Given the description of an element on the screen output the (x, y) to click on. 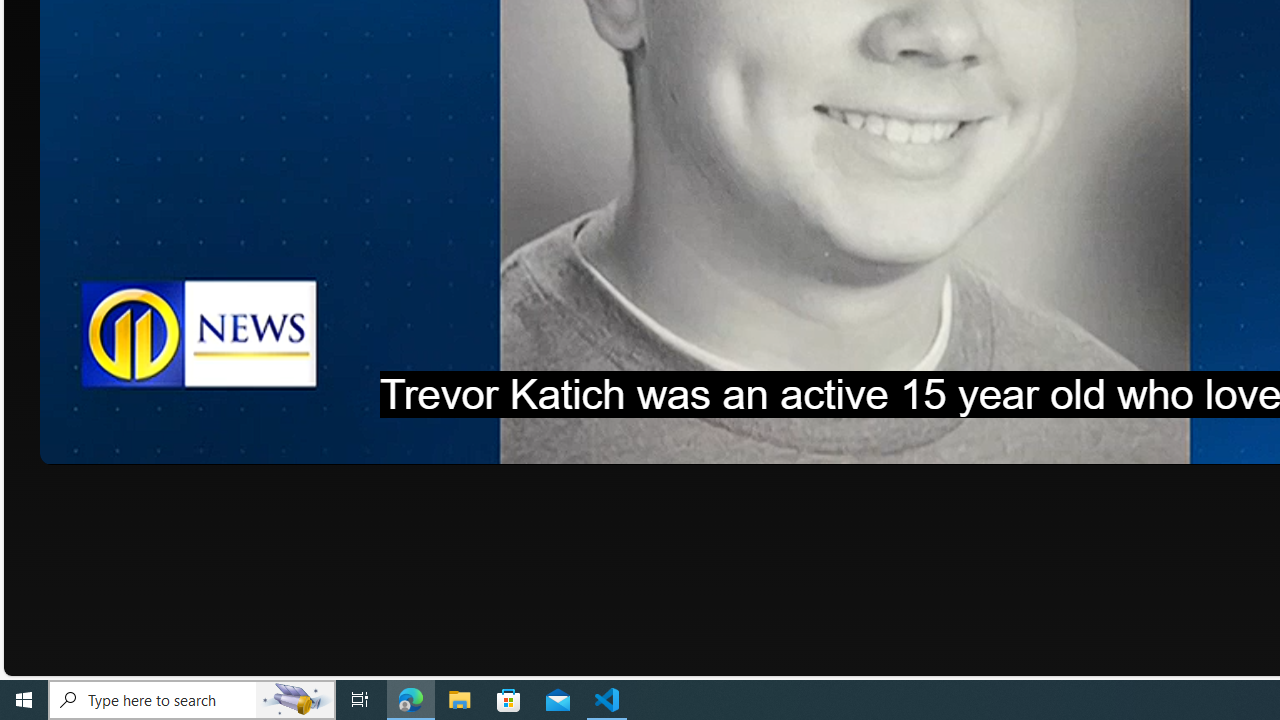
Seek Back (109, 442)
Seek Forward (150, 442)
Pause (69, 442)
